Given the description of an element on the screen output the (x, y) to click on. 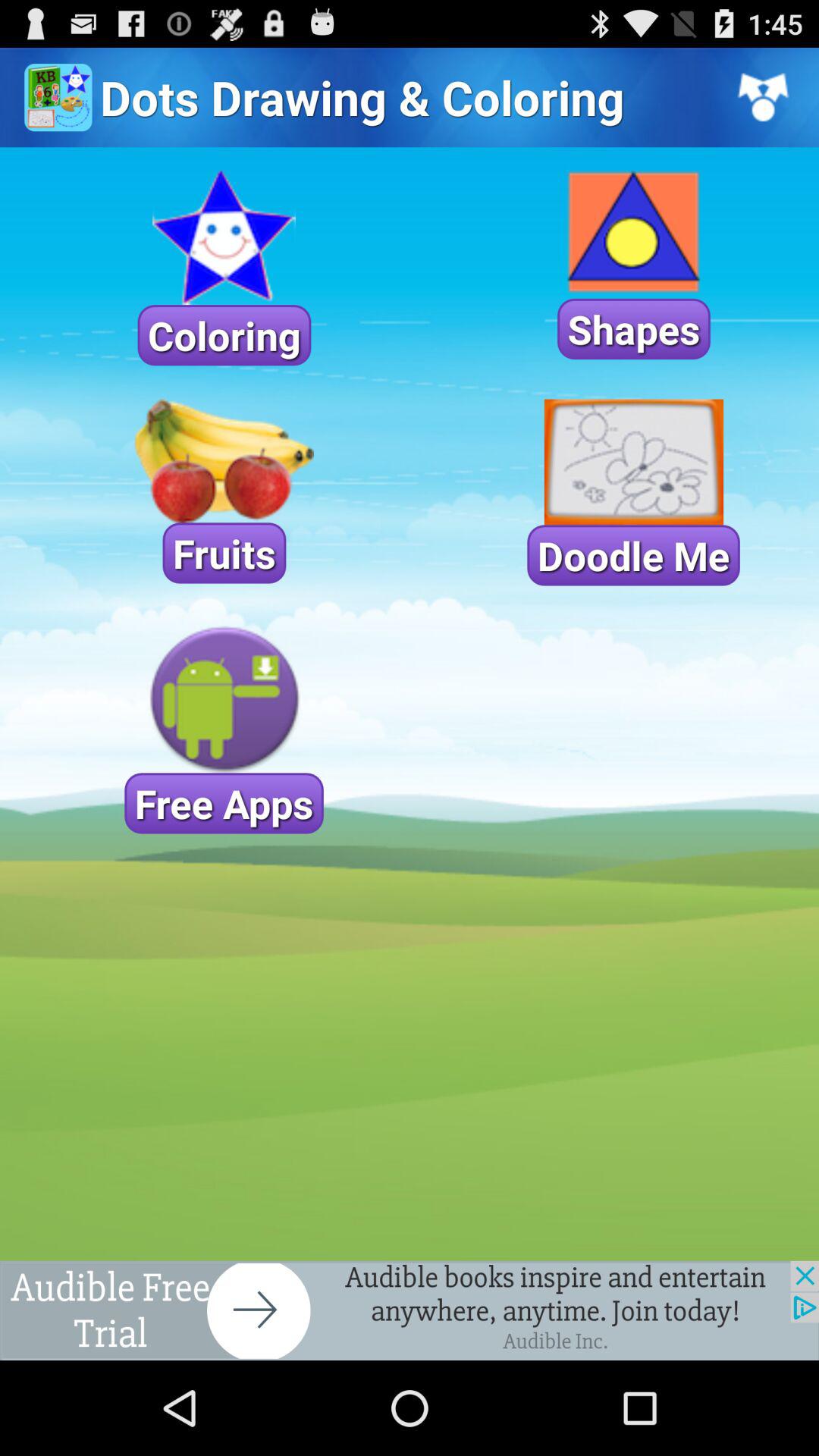
advertisement (409, 1310)
